Given the description of an element on the screen output the (x, y) to click on. 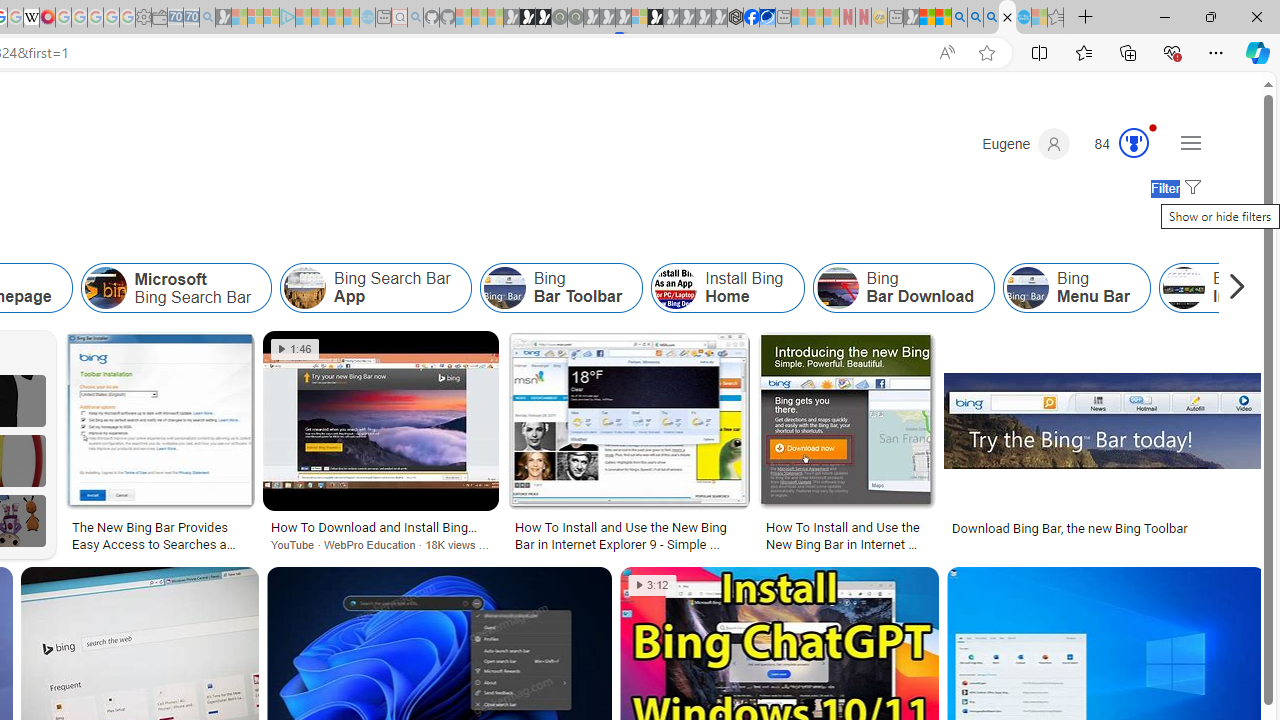
Play Zoo Boom in your browser | Games from Microsoft Start (527, 17)
Bing AI - Search (959, 17)
github - Search - Sleeping (415, 17)
Bing Bar Download (903, 287)
Download Bing Bar, the new Bing Toolbar (1105, 528)
AutomationID: rh_meter (1133, 142)
